Given the description of an element on the screen output the (x, y) to click on. 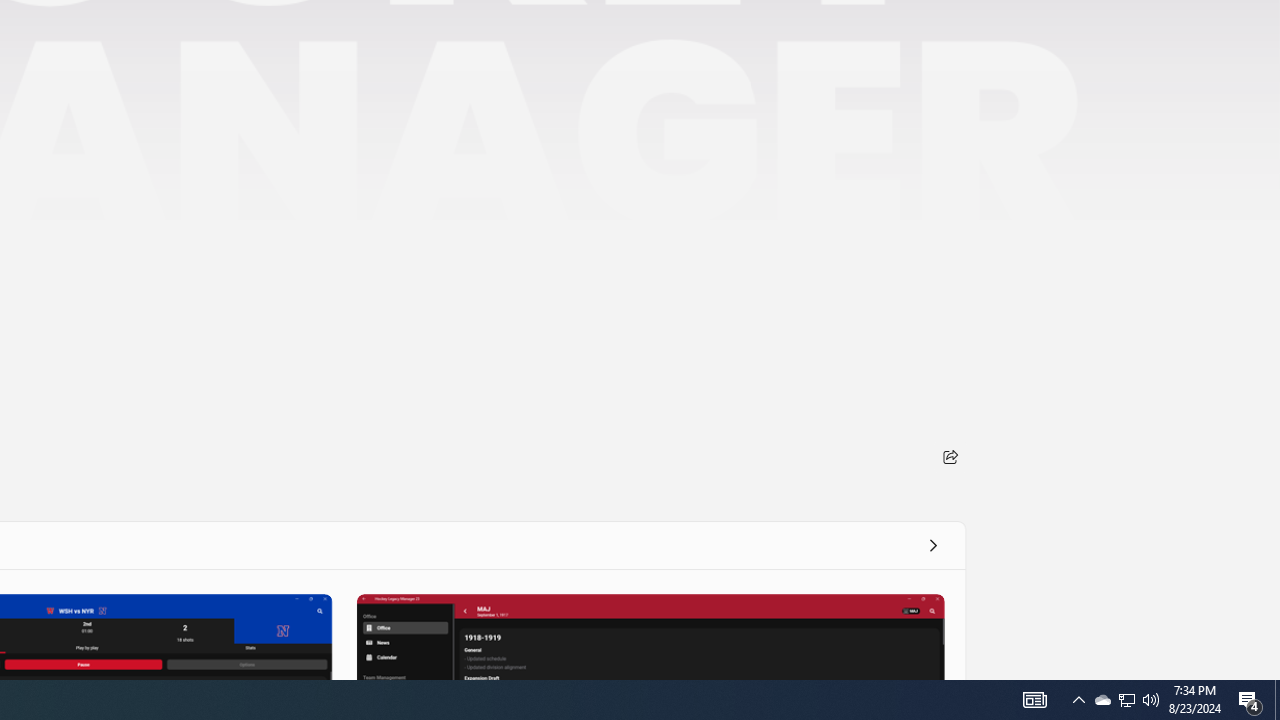
Share (950, 456)
Screenshot 3 (649, 636)
See all (932, 544)
